Given the description of an element on the screen output the (x, y) to click on. 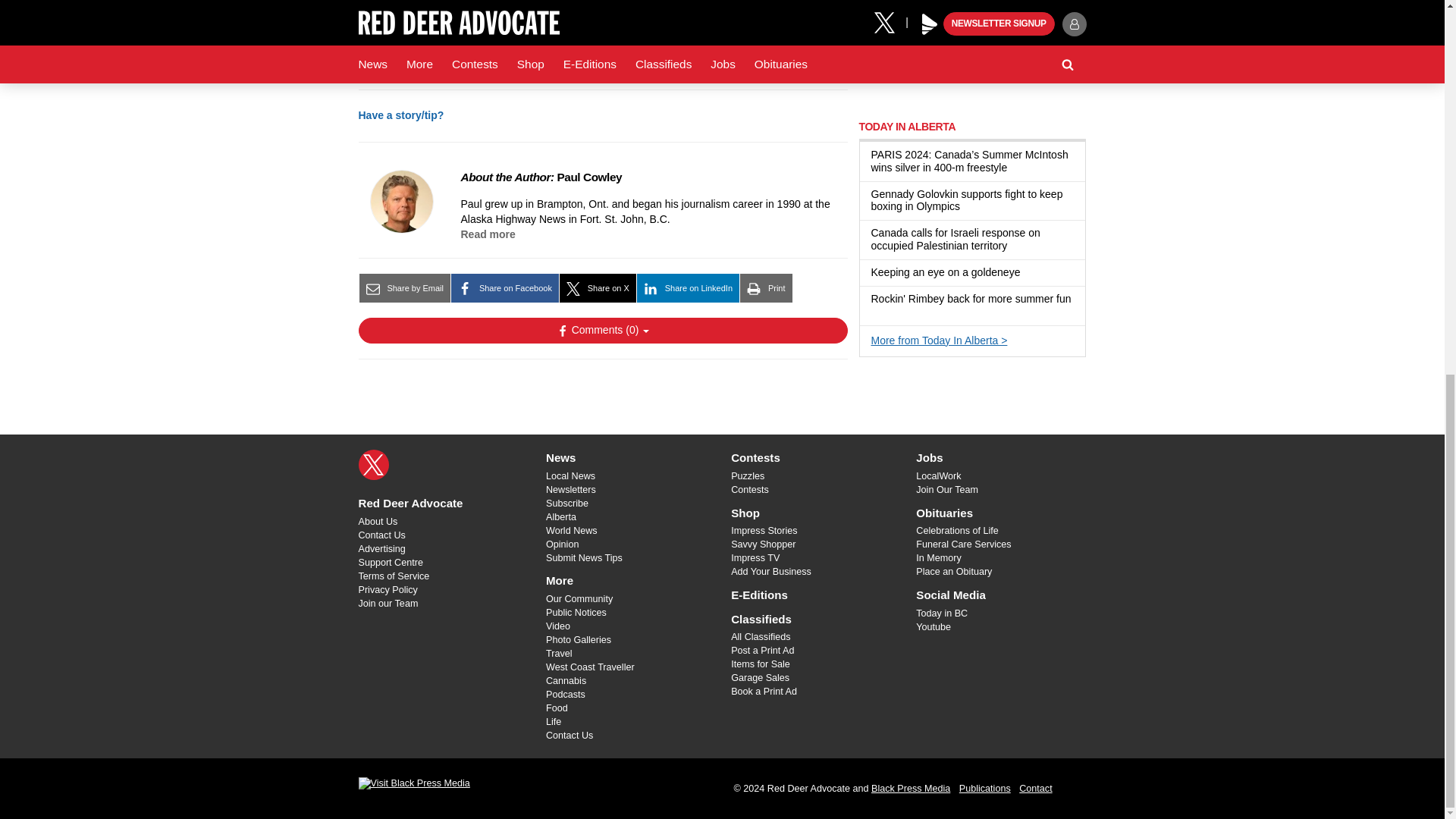
Has a gallery (876, 312)
Show Comments (602, 330)
X (373, 464)
